Given the description of an element on the screen output the (x, y) to click on. 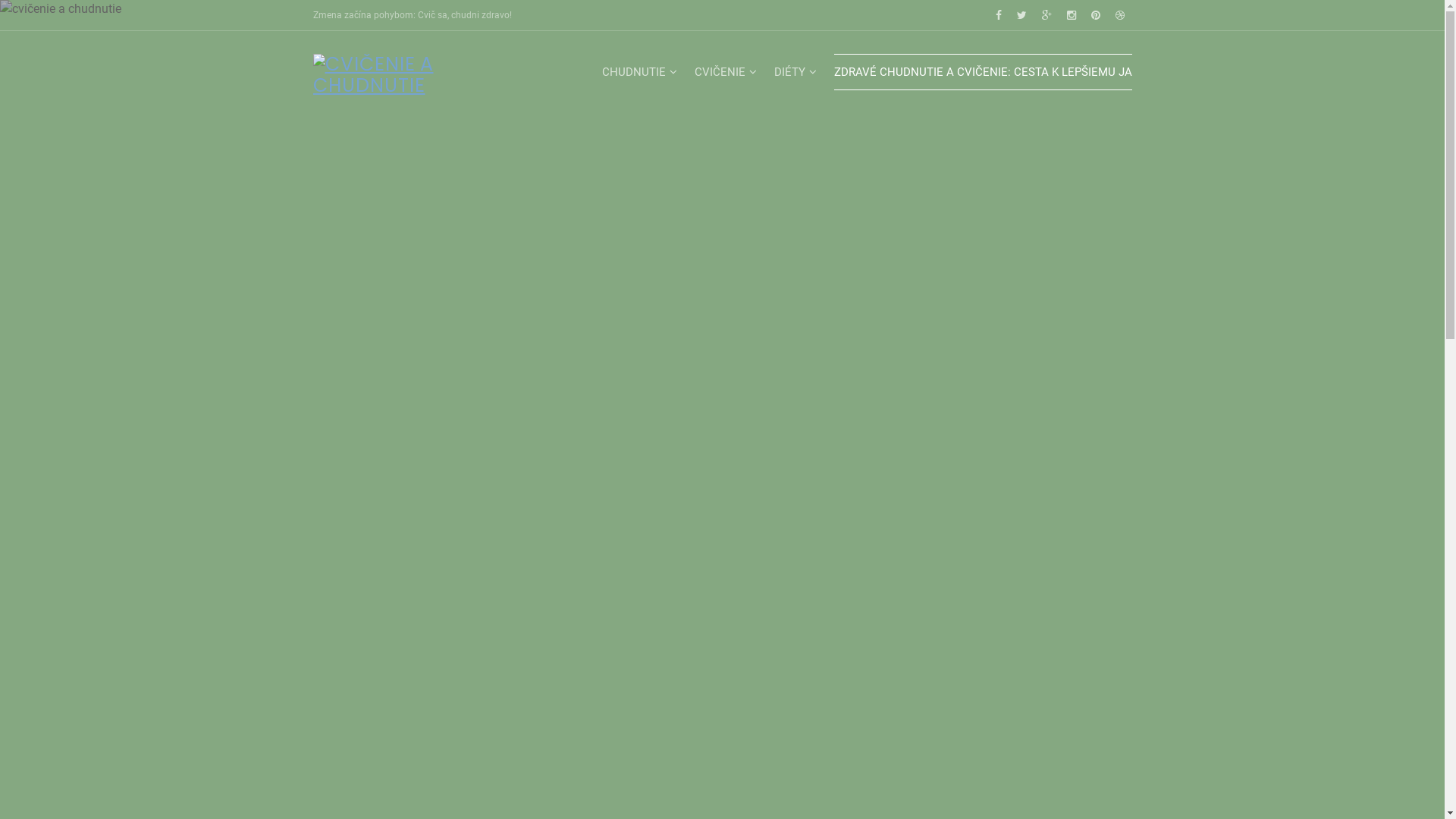
CHUDNUTIE Element type: text (640, 71)
